Given the description of an element on the screen output the (x, y) to click on. 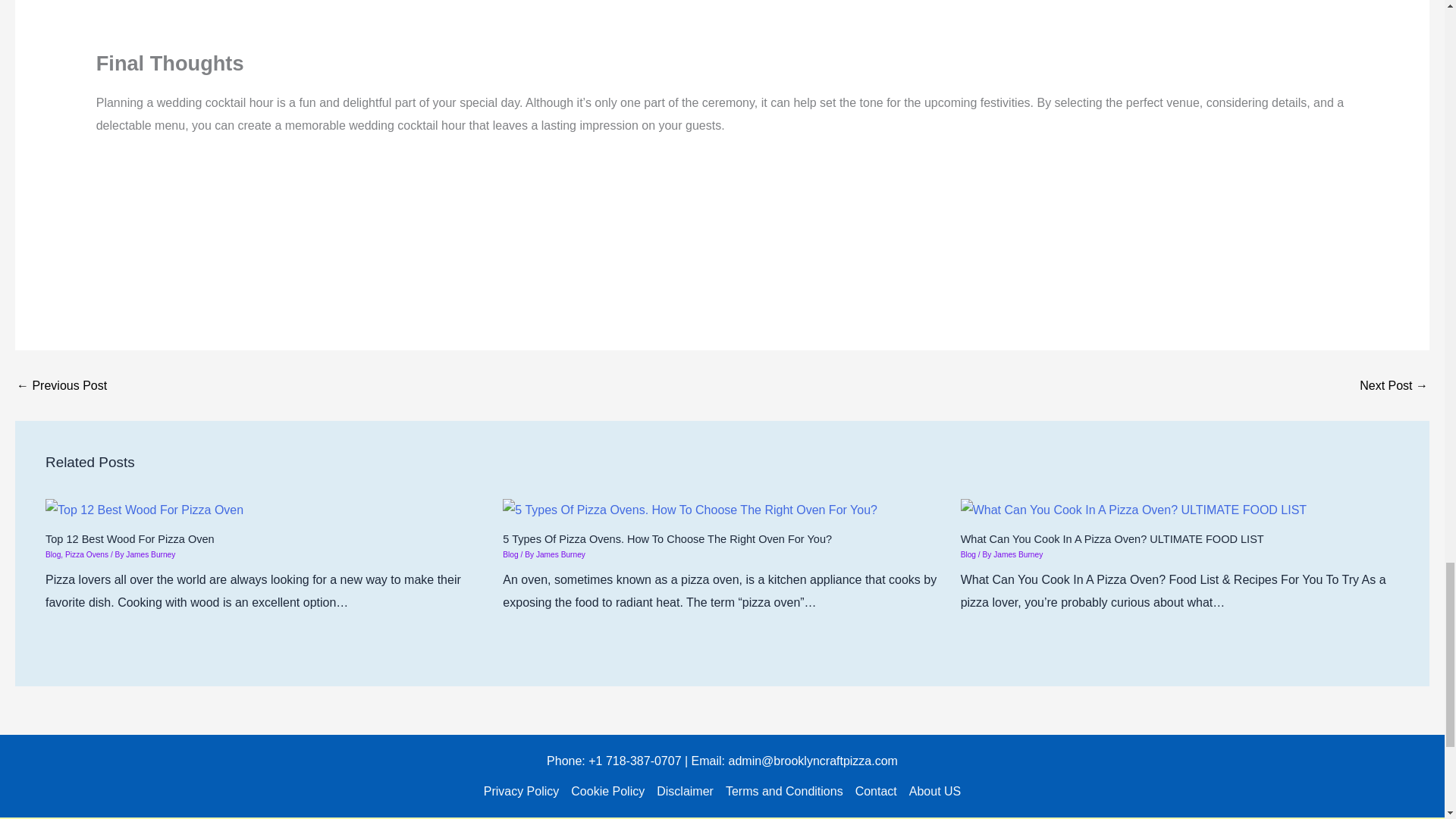
View all posts by James Burney (149, 554)
View all posts by James Burney (560, 554)
6 Starters That Are A Hit At Family Dinner Parties (61, 386)
Top 12 Best Wood For Pizza Oven (144, 509)
Tips For Making Dinner Plans In Tennessee (1393, 386)
View all posts by James Burney (1017, 554)
What Can You Cook In A Pizza Oven? ULTIMATE FOOD LIST (1133, 509)
